Given the description of an element on the screen output the (x, y) to click on. 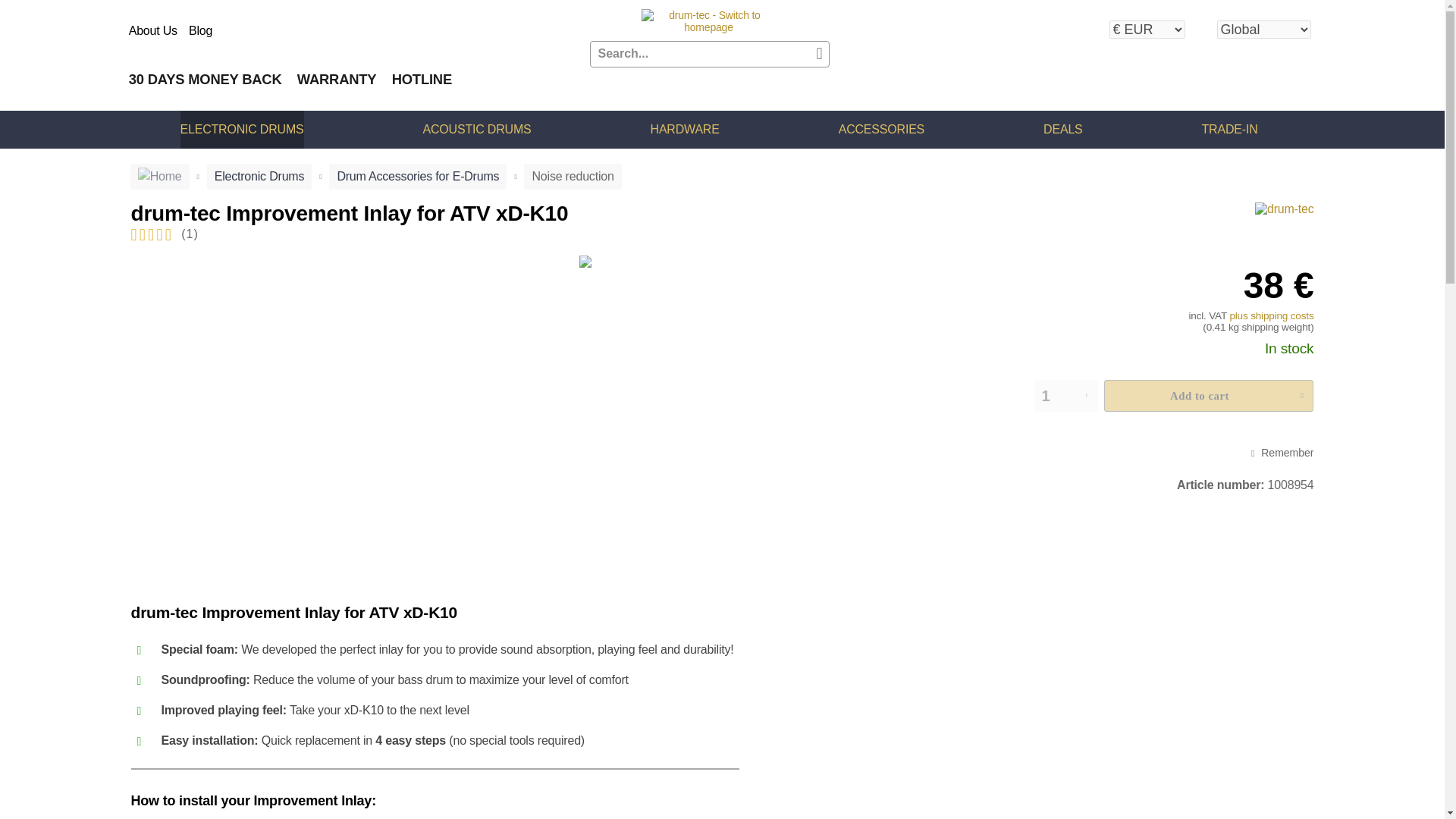
Drum Accessories for E-Drums (417, 176)
drum-tec blog (200, 30)
Drum Hardware (684, 129)
Noise reduction (572, 176)
Electronic Drums (259, 176)
About Us (153, 30)
Drum Accessories for E-Drums (417, 176)
HOTLINE (421, 78)
Drum Accessories (881, 129)
HARDWARE (684, 129)
